Given the description of an element on the screen output the (x, y) to click on. 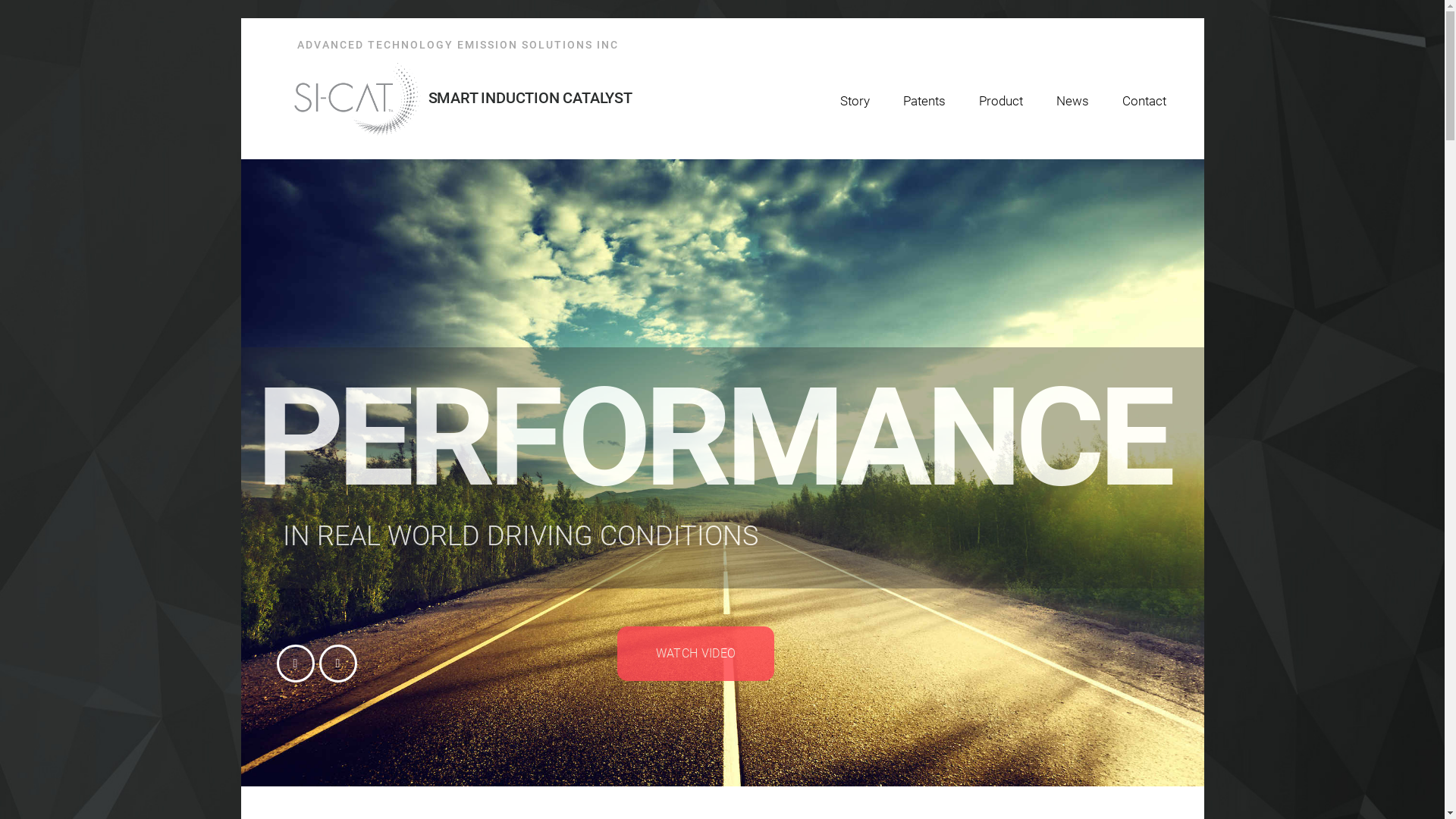
Product Element type: text (1000, 100)
Contact Element type: text (1144, 100)
WATCH VIDEO Element type: text (696, 653)
Story Element type: text (854, 100)
Patents Element type: text (923, 100)
News Element type: text (1071, 100)
